Given the description of an element on the screen output the (x, y) to click on. 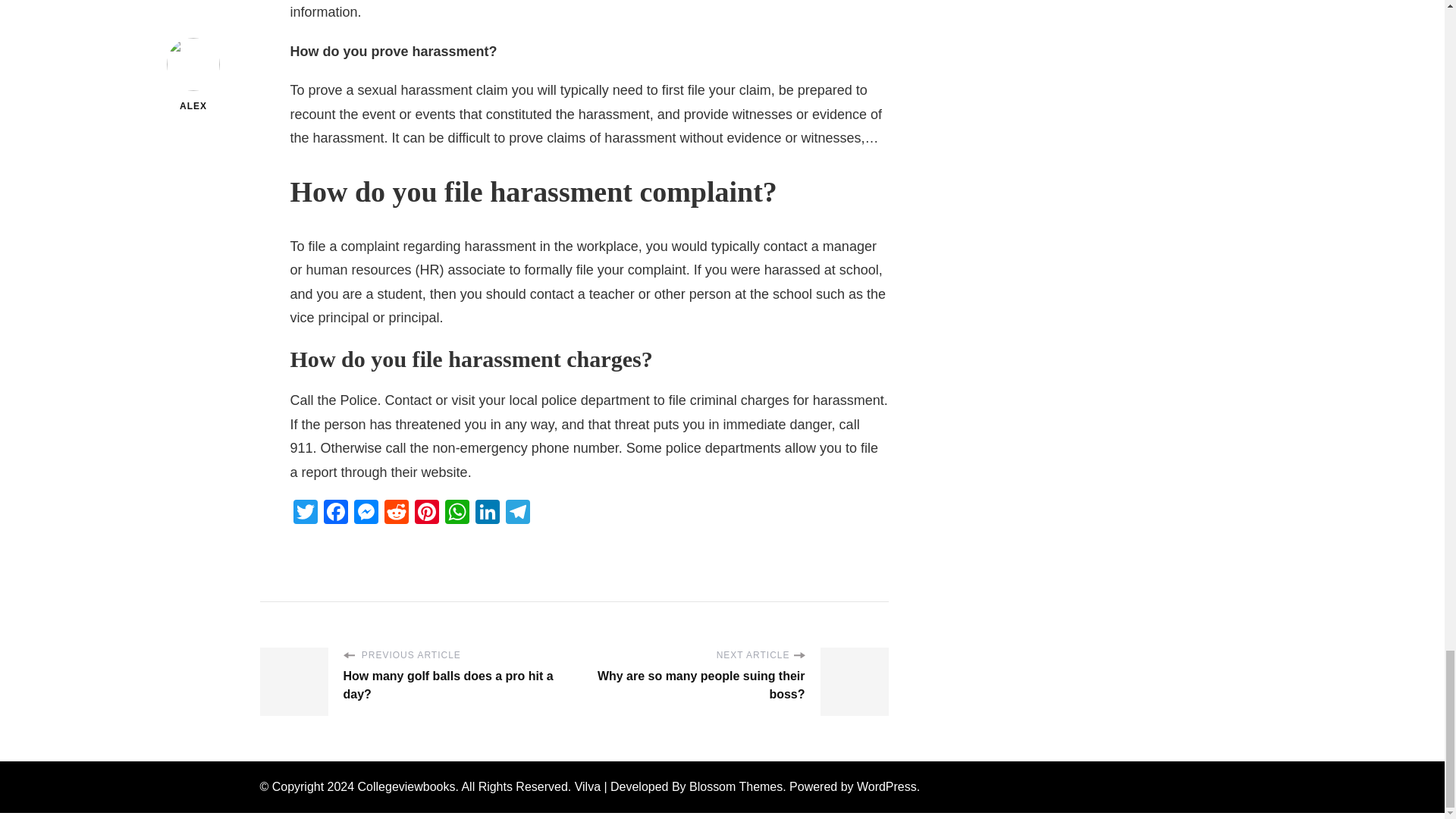
Twitter (304, 513)
Facebook (335, 513)
Telegram (517, 513)
Telegram (517, 513)
Reddit (395, 513)
WhatsApp (456, 513)
Messenger (365, 513)
LinkedIn (486, 513)
LinkedIn (486, 513)
WhatsApp (456, 513)
